Given the description of an element on the screen output the (x, y) to click on. 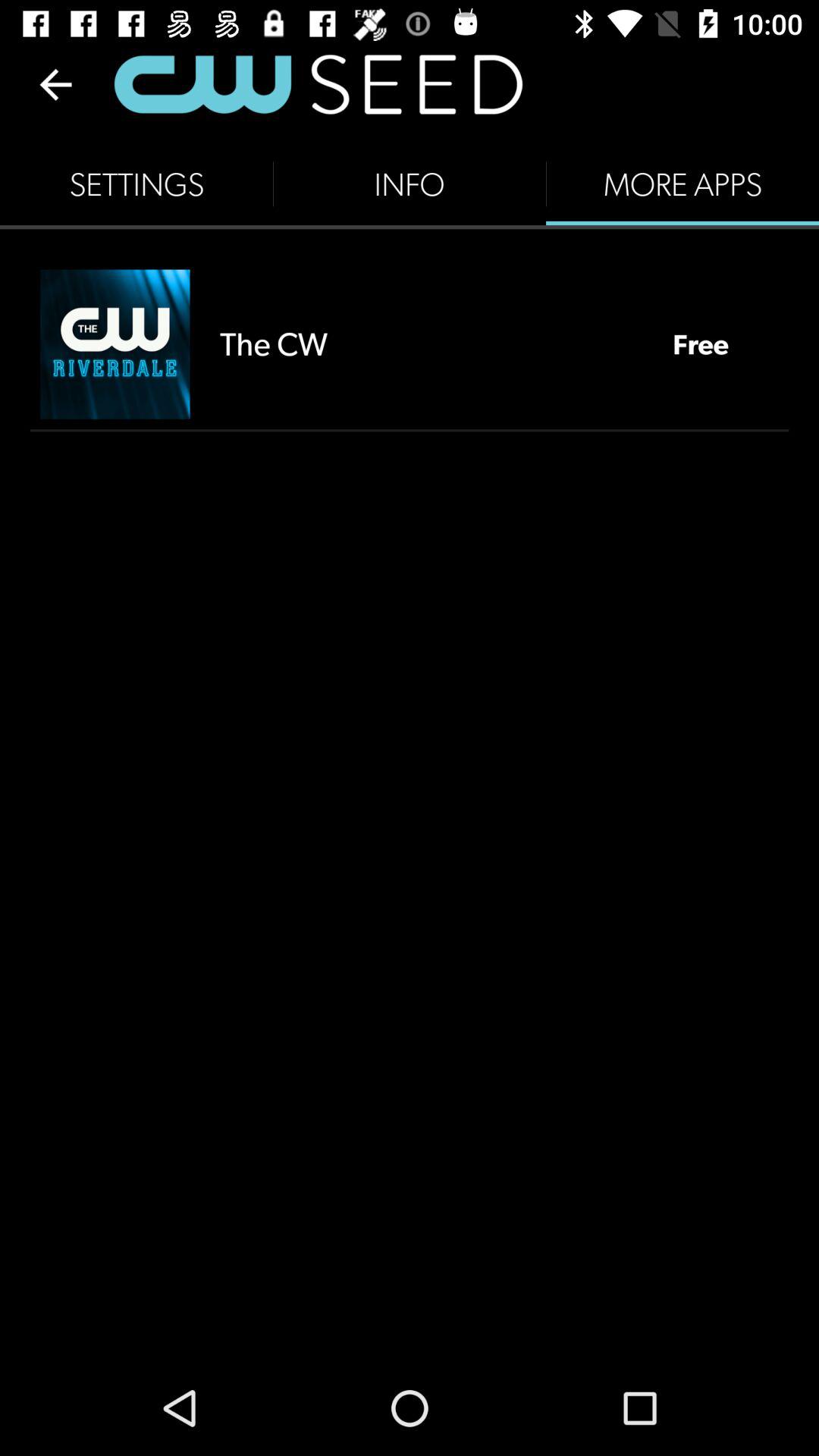
choose more apps item (682, 184)
